Given the description of an element on the screen output the (x, y) to click on. 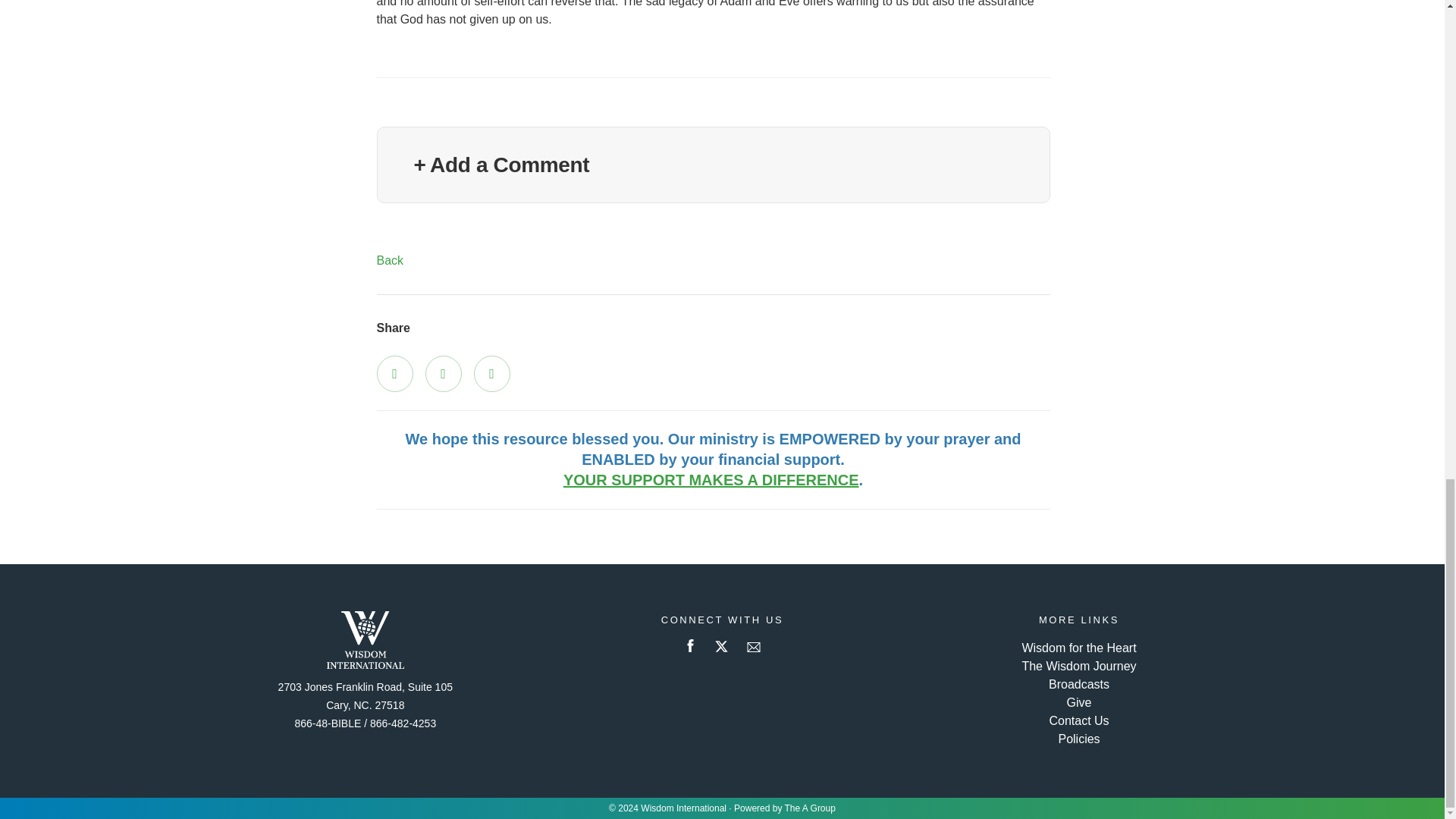
Policies (1078, 738)
Invite a Friend (491, 373)
Broadcasts (1078, 684)
Facebook (393, 373)
The Wisdom Journey (1078, 666)
Powered by The A Group (784, 808)
Twitter (443, 373)
Wisdom for the Heart (1078, 647)
Back (389, 259)
YOUR SUPPORT MAKES A DIFFERENCE (711, 479)
Contact Us (1078, 720)
Give (1079, 702)
